Given the description of an element on the screen output the (x, y) to click on. 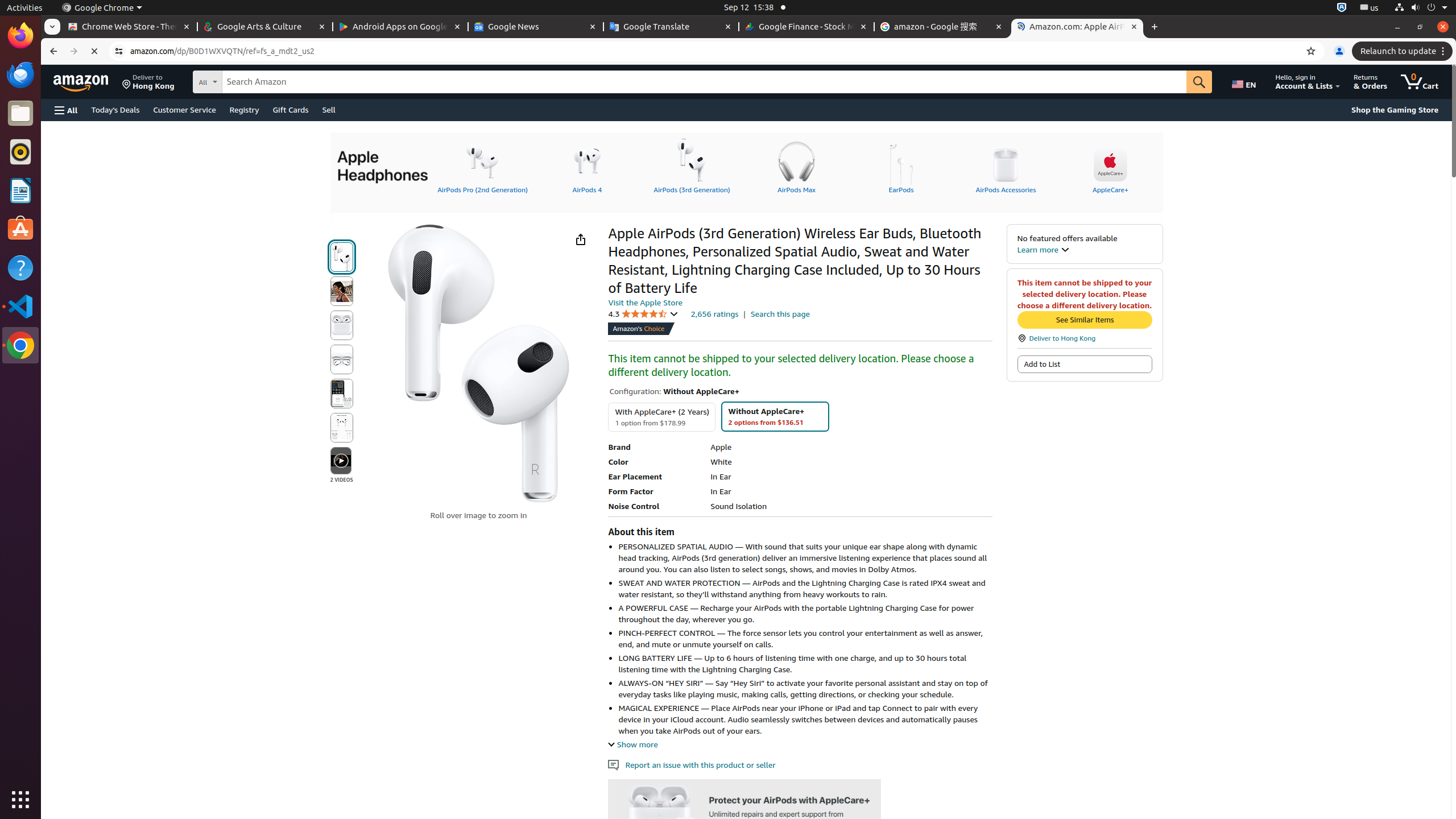
Report an issue with this product or seller   Report an issue with this product or seller Element type: link (691, 764)
Google Arts & Culture - Memory usage - 57.6 MB Element type: page-tab (264, 26)
AirPods 4 Element type: link (587, 165)
See Similar Items Element type: push-button (1084, 319)
LibreOffice Writer Element type: push-button (20, 190)
